Given the description of an element on the screen output the (x, y) to click on. 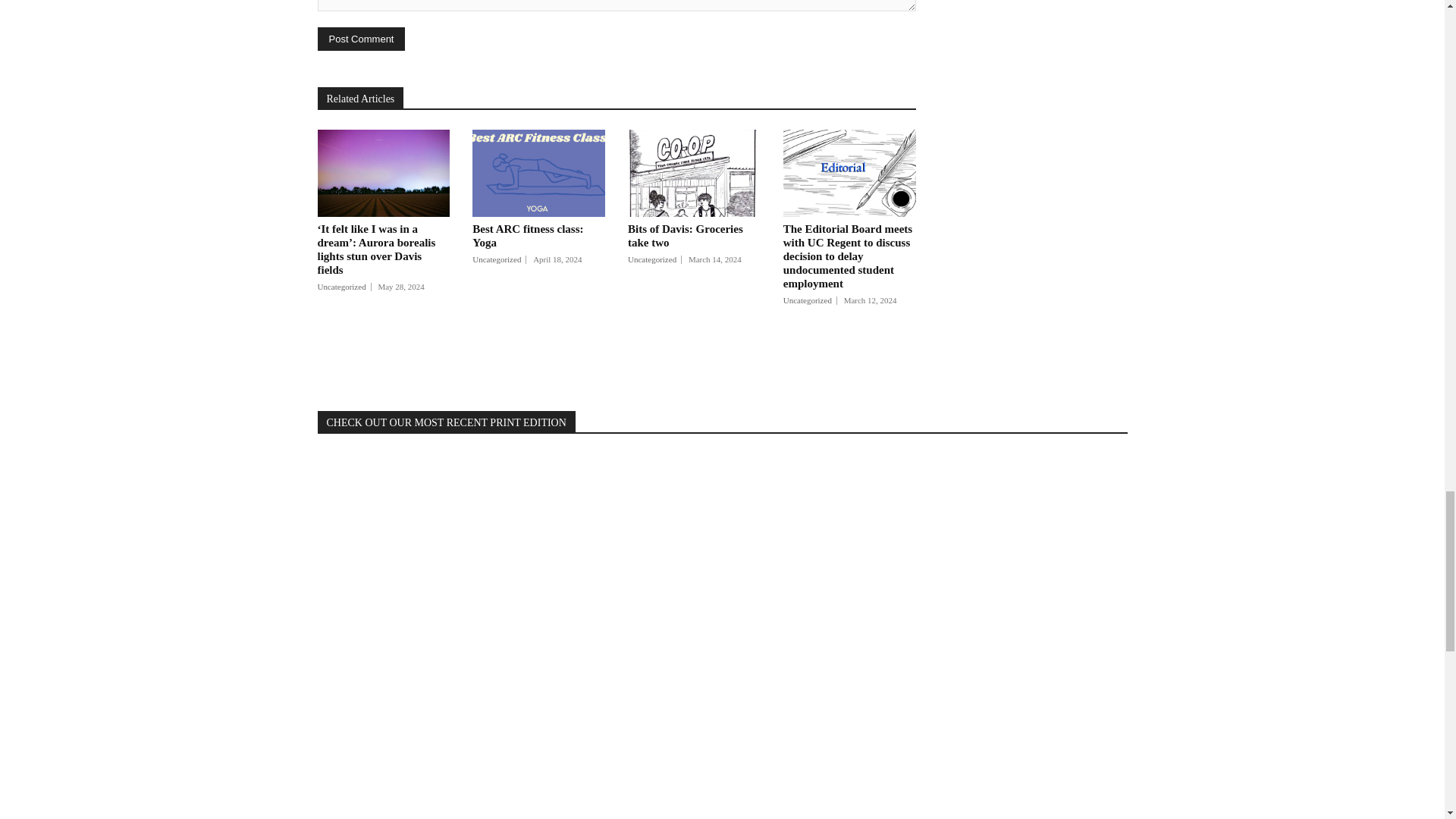
Post Comment (360, 38)
